Given the description of an element on the screen output the (x, y) to click on. 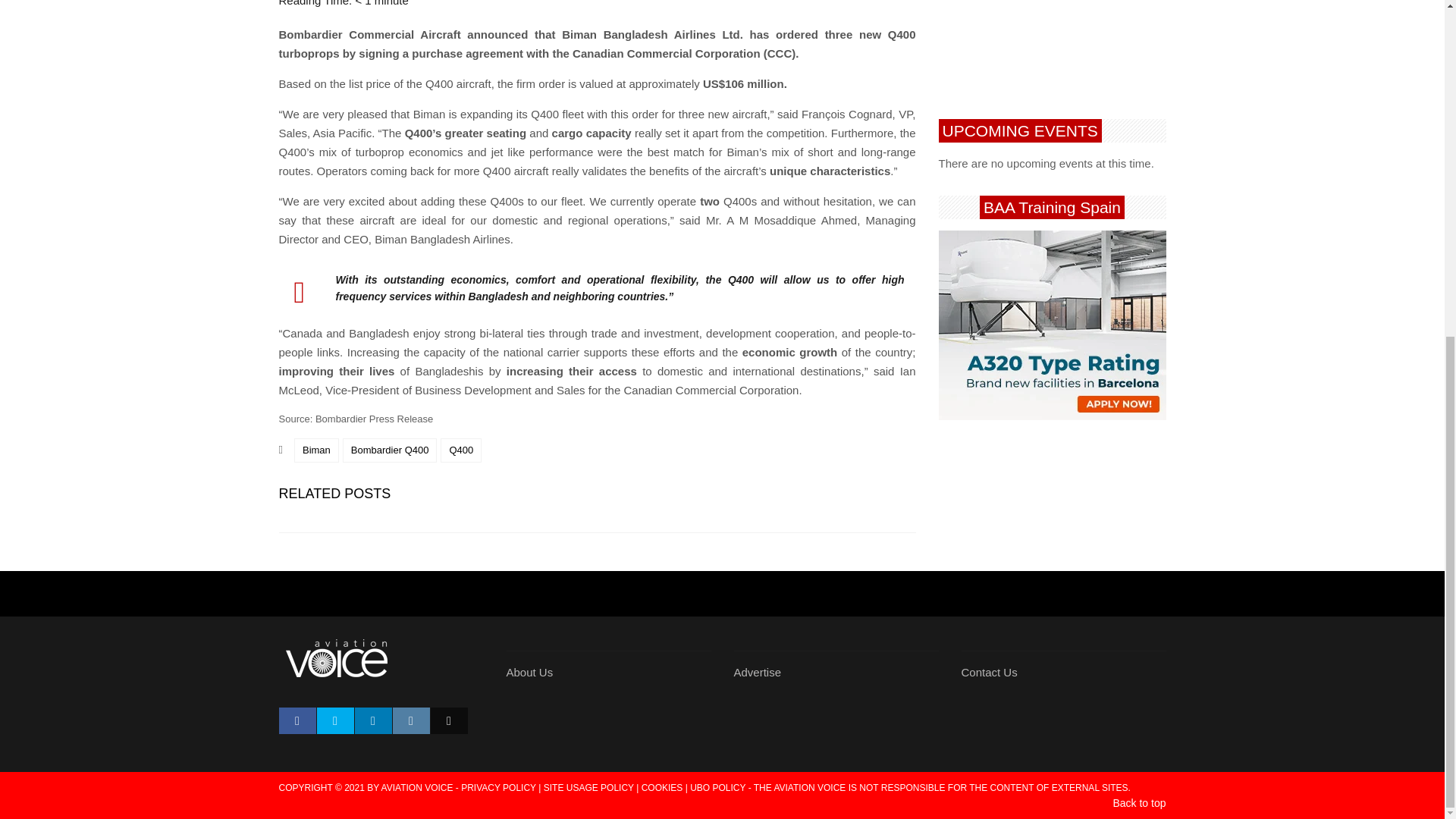
Biman (316, 450)
